Given the description of an element on the screen output the (x, y) to click on. 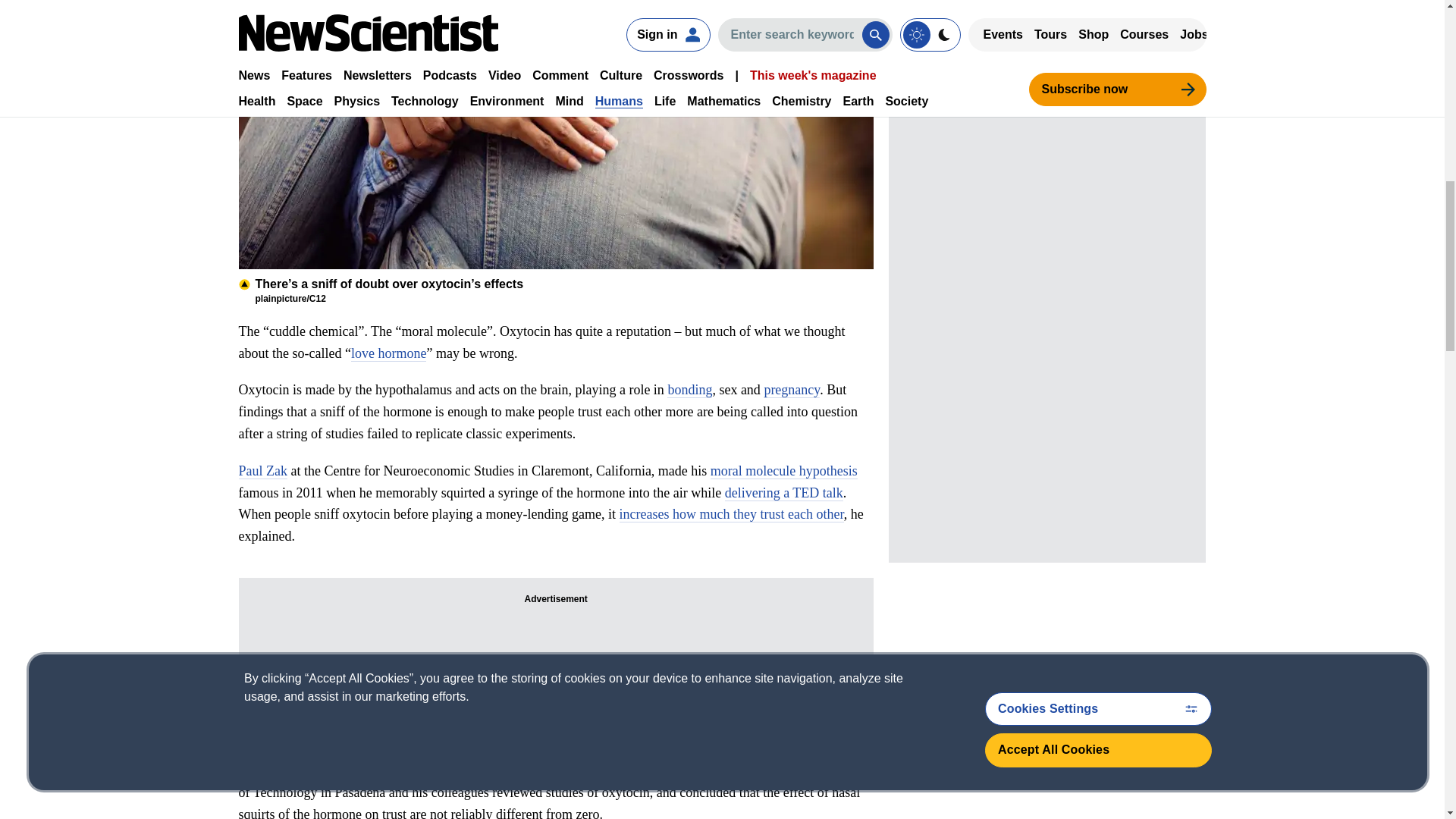
3rd party ad content (1046, 33)
